Given the description of an element on the screen output the (x, y) to click on. 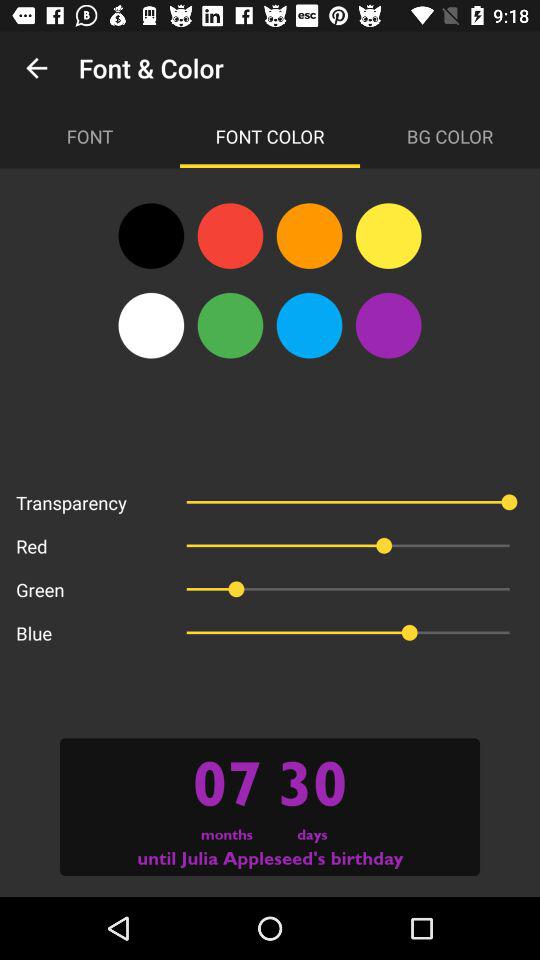
open icon below the font (151, 235)
